Given the description of an element on the screen output the (x, y) to click on. 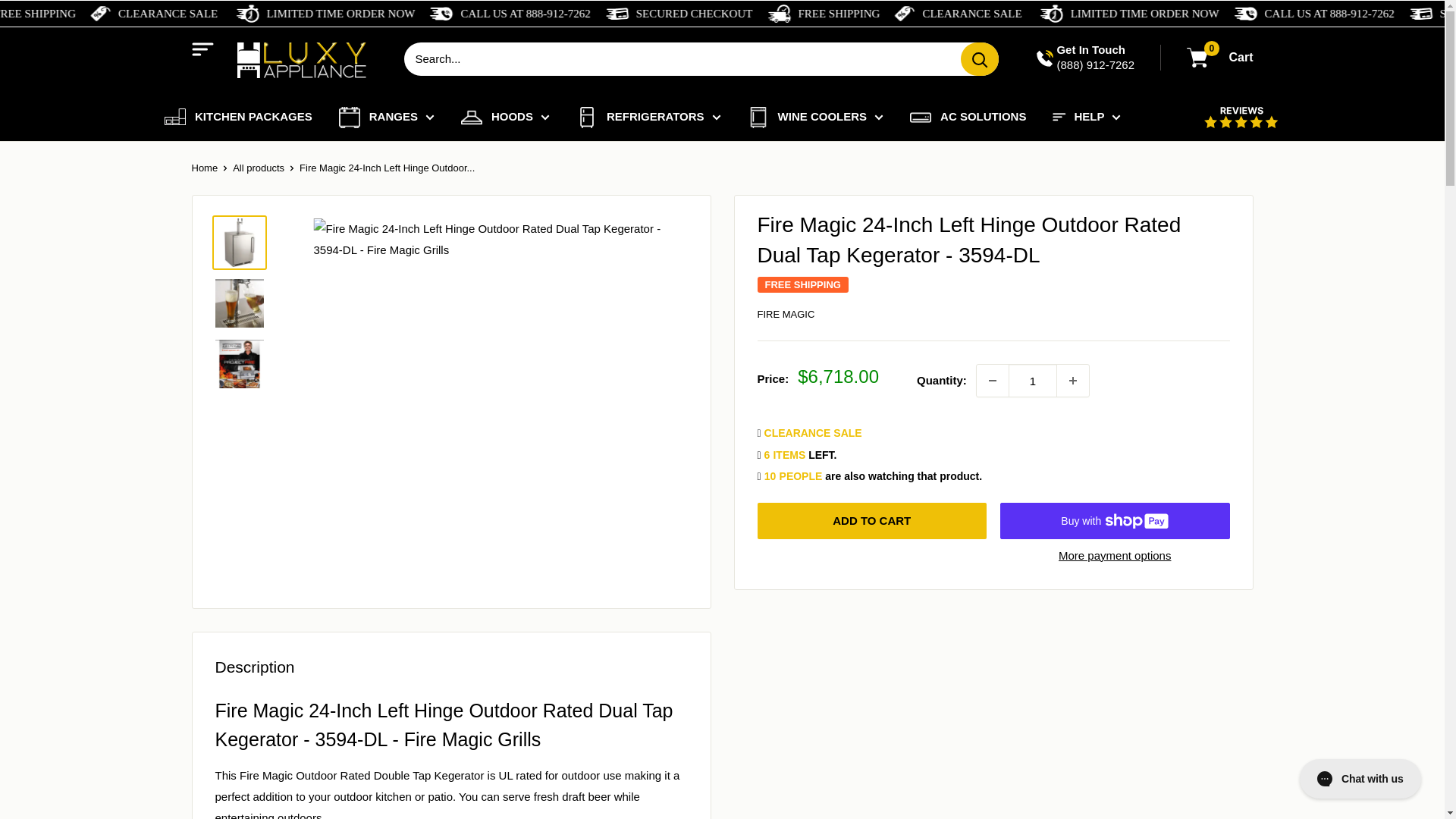
1 (1033, 380)
Increase quantity by 1 (1073, 380)
Decrease quantity by 1 (992, 380)
